Given the description of an element on the screen output the (x, y) to click on. 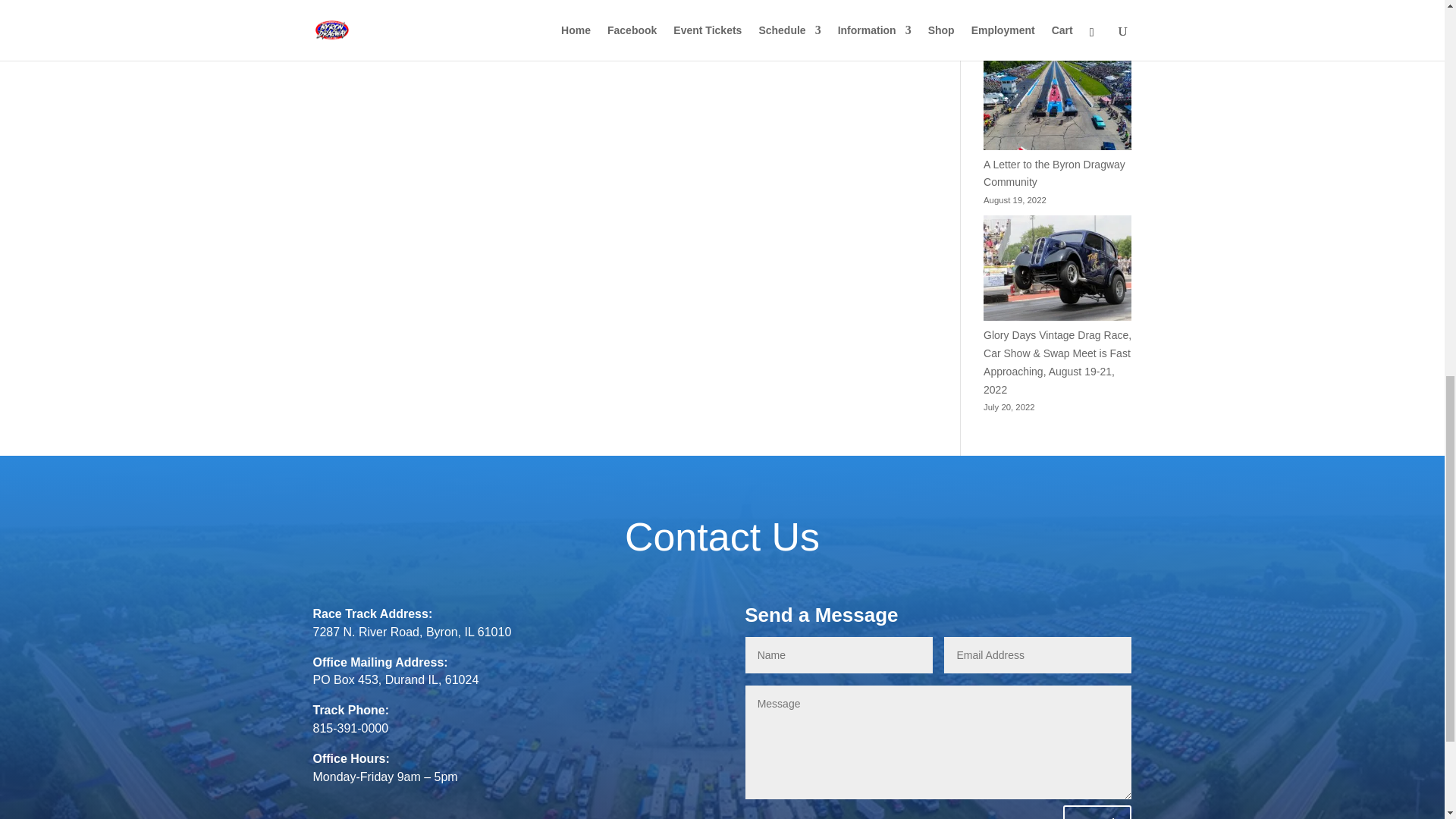
Don's Auto Parts (614, 60)
